Given the description of an element on the screen output the (x, y) to click on. 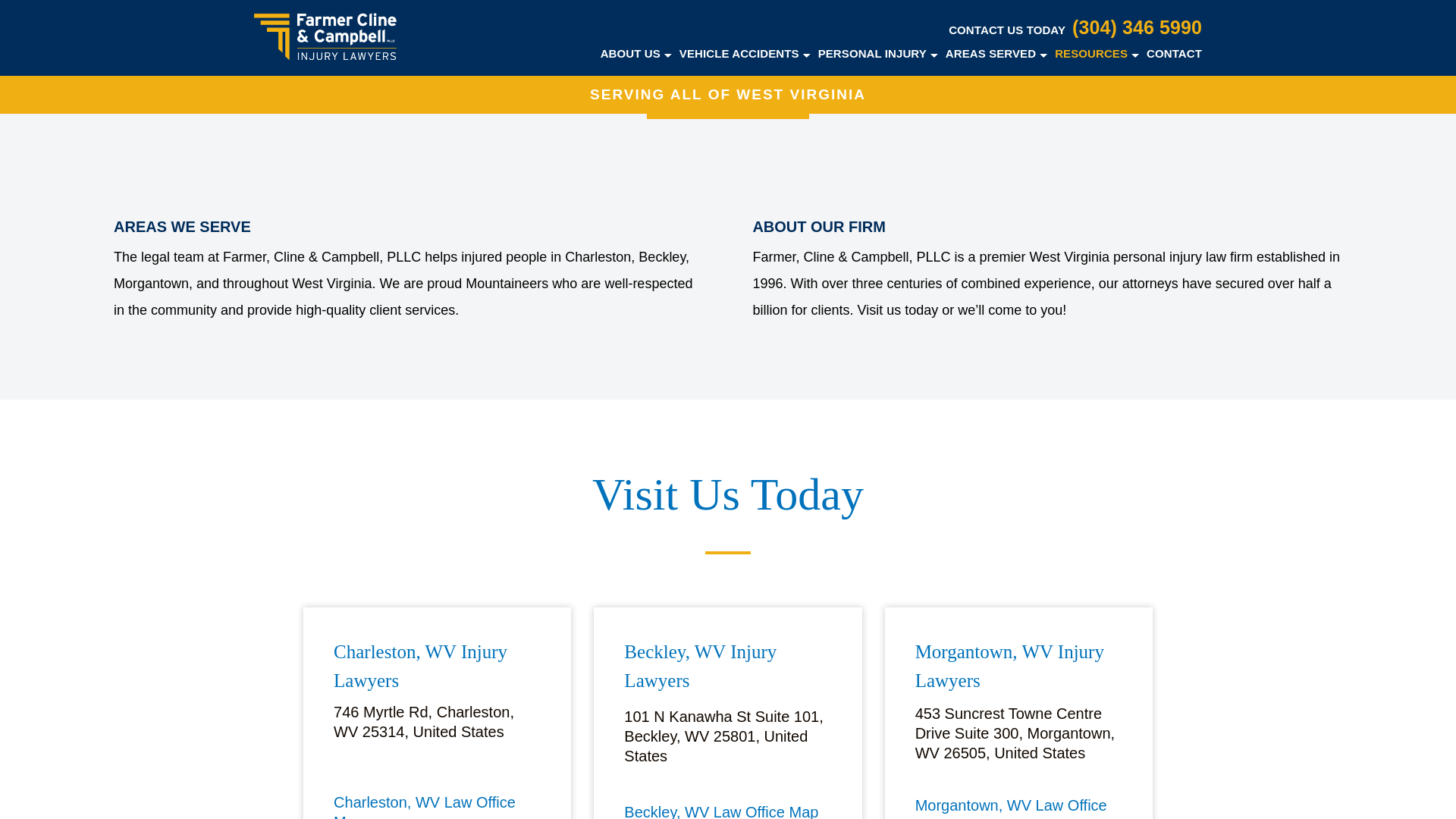
1 (259, 43)
Submit Case (727, 92)
